Given the description of an element on the screen output the (x, y) to click on. 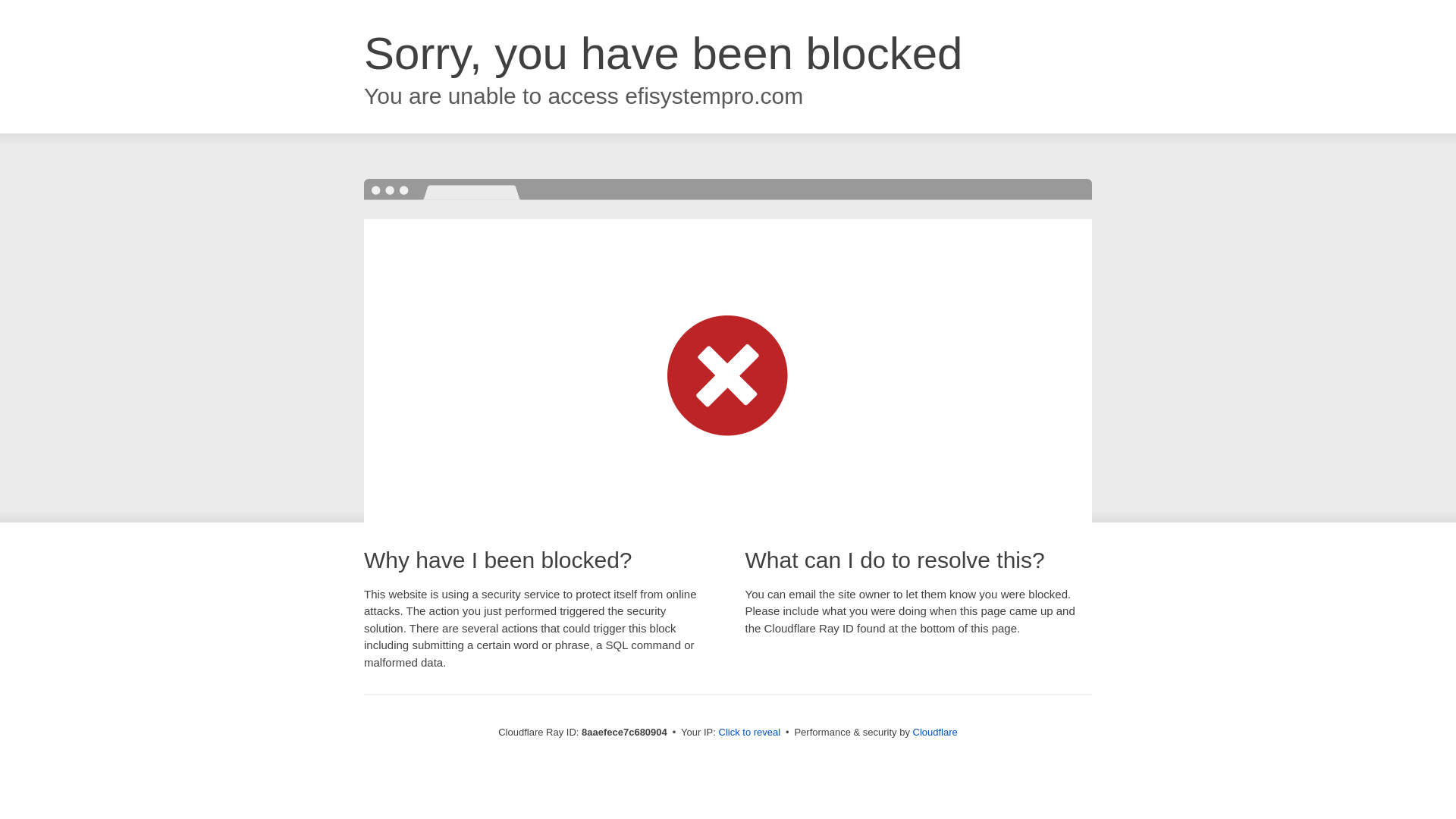
Click to reveal (749, 732)
Cloudflare (935, 731)
